Given the description of an element on the screen output the (x, y) to click on. 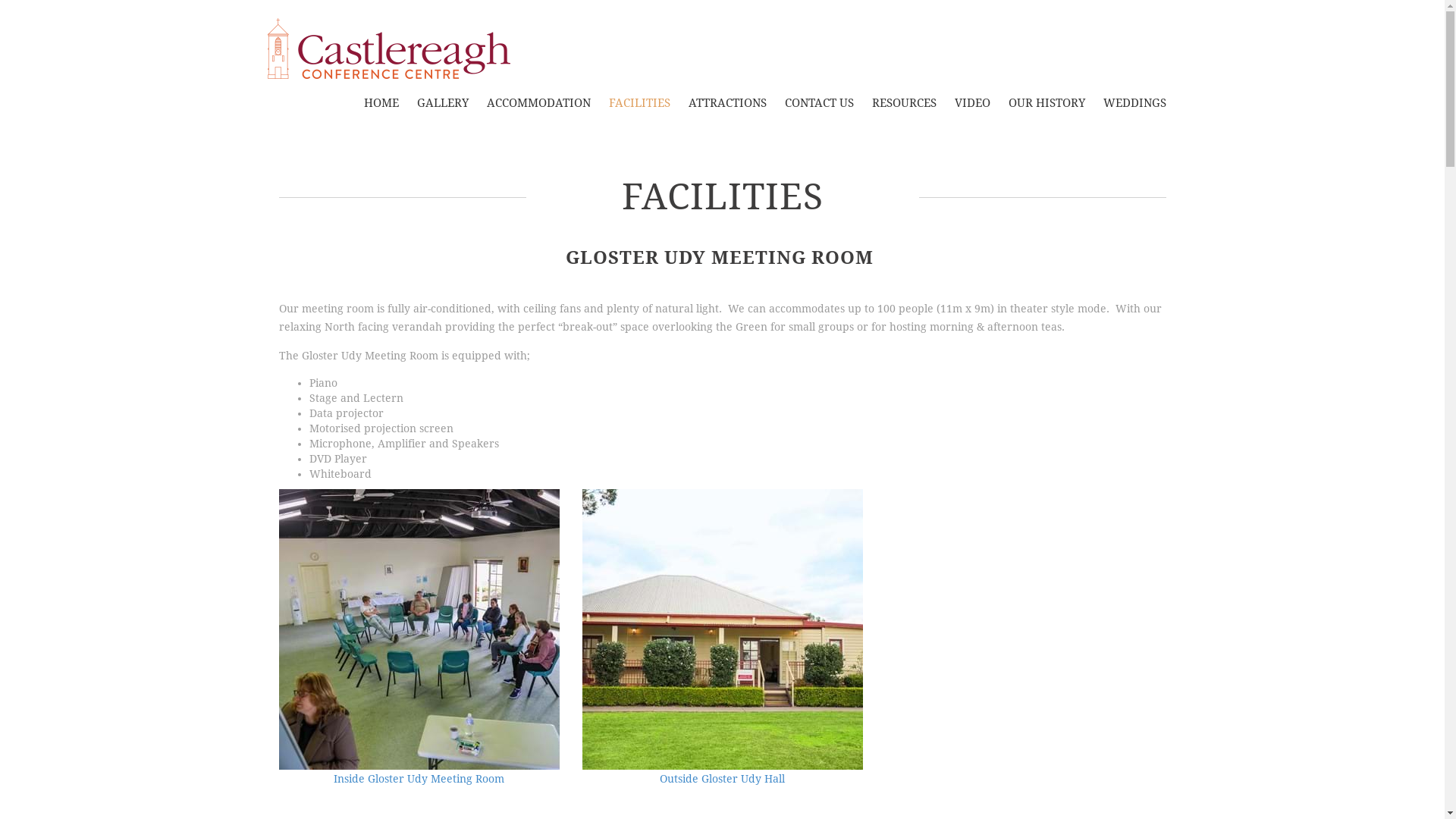
OUR HISTORY Element type: text (1046, 102)
Inside Gloster Udy Meeting Room Element type: text (419, 638)
WEDDINGS Element type: text (1133, 102)
ATTRACTIONS Element type: text (727, 102)
FACILITIES Element type: text (638, 102)
RESOURCES Element type: text (904, 102)
HOME Element type: text (381, 102)
Outside Gloster Udy Hall Element type: text (722, 638)
GALLERY Element type: text (442, 102)
VIDEO Element type: text (971, 102)
ACCOMMODATION Element type: text (538, 102)
CONTACT US Element type: text (818, 102)
